Given the description of an element on the screen output the (x, y) to click on. 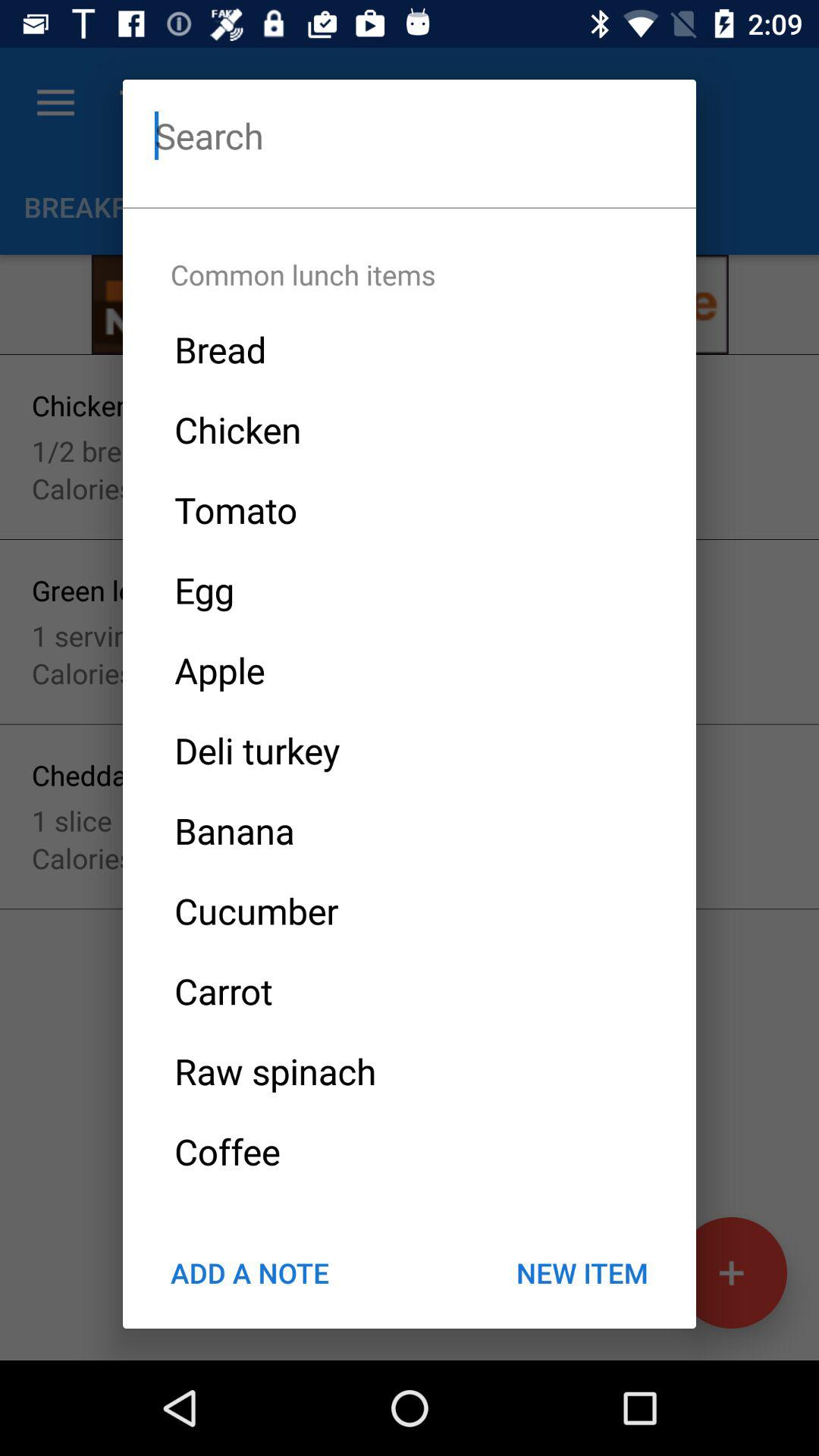
swipe to the add a note icon (249, 1272)
